Given the description of an element on the screen output the (x, y) to click on. 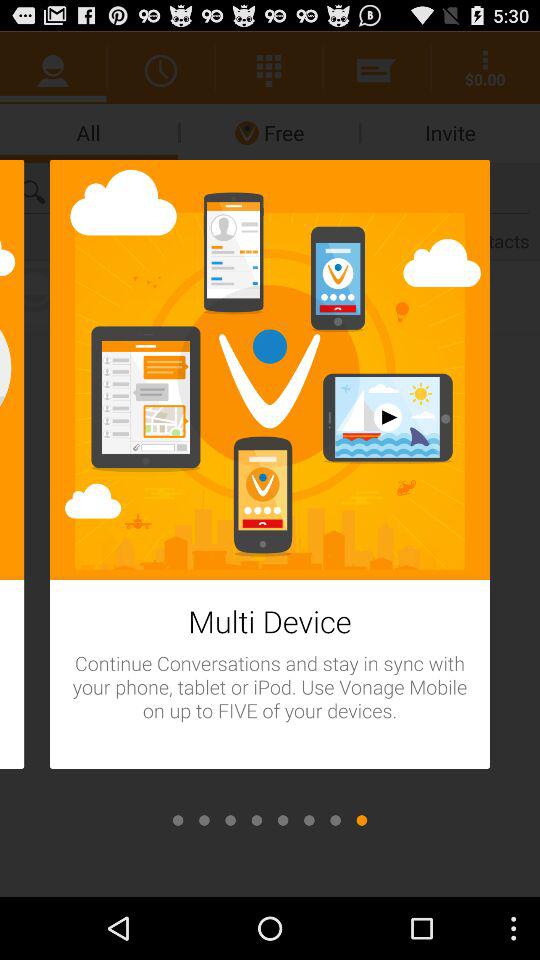
choose the item at the bottom left corner (177, 820)
